Given the description of an element on the screen output the (x, y) to click on. 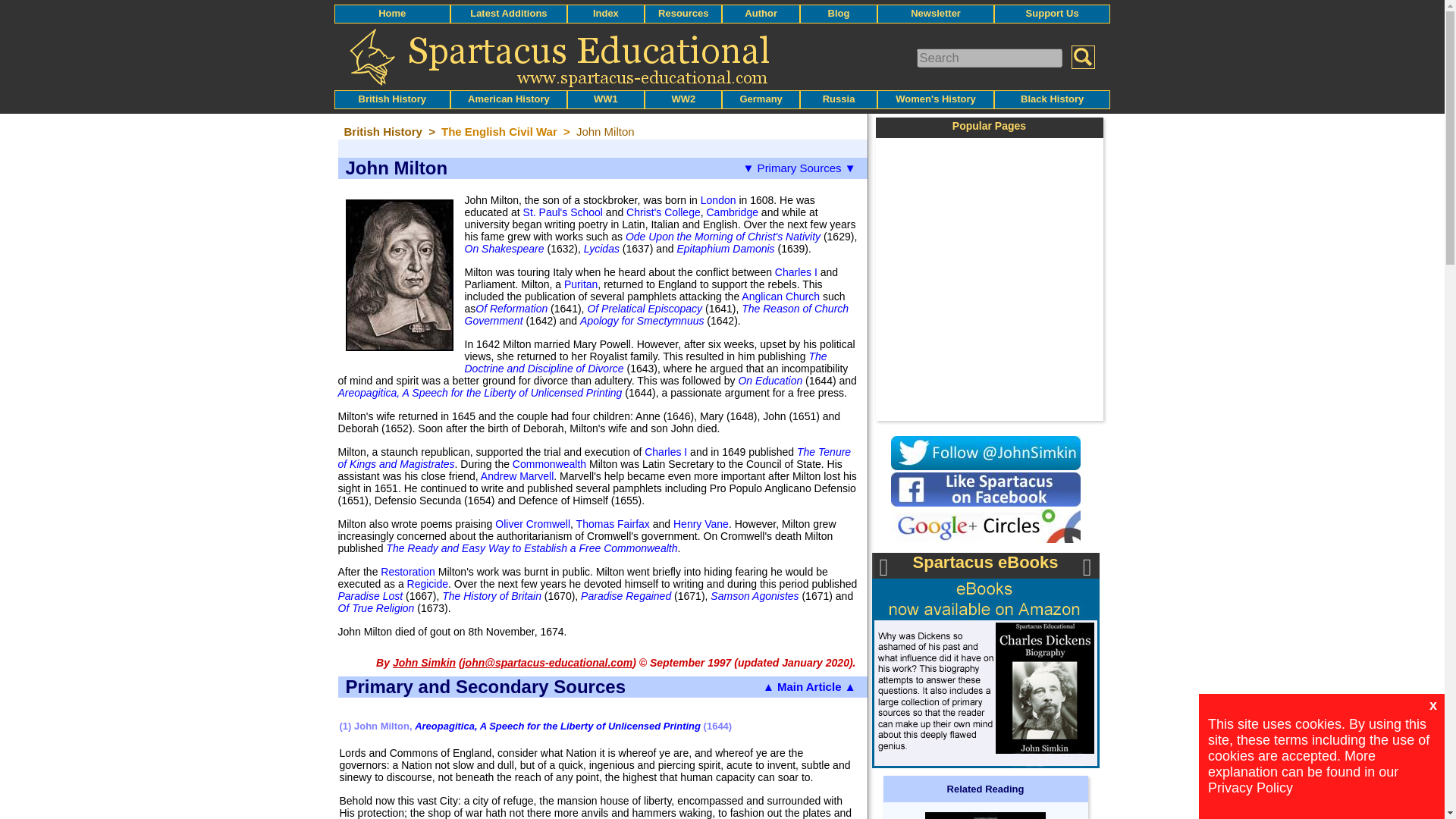
WW1 (605, 98)
Black History (1051, 98)
Resources (682, 12)
Index (605, 12)
Charles I (795, 272)
Russia (839, 98)
Puritan (580, 284)
Author (760, 12)
Germany (760, 98)
Women's History (935, 98)
